Given the description of an element on the screen output the (x, y) to click on. 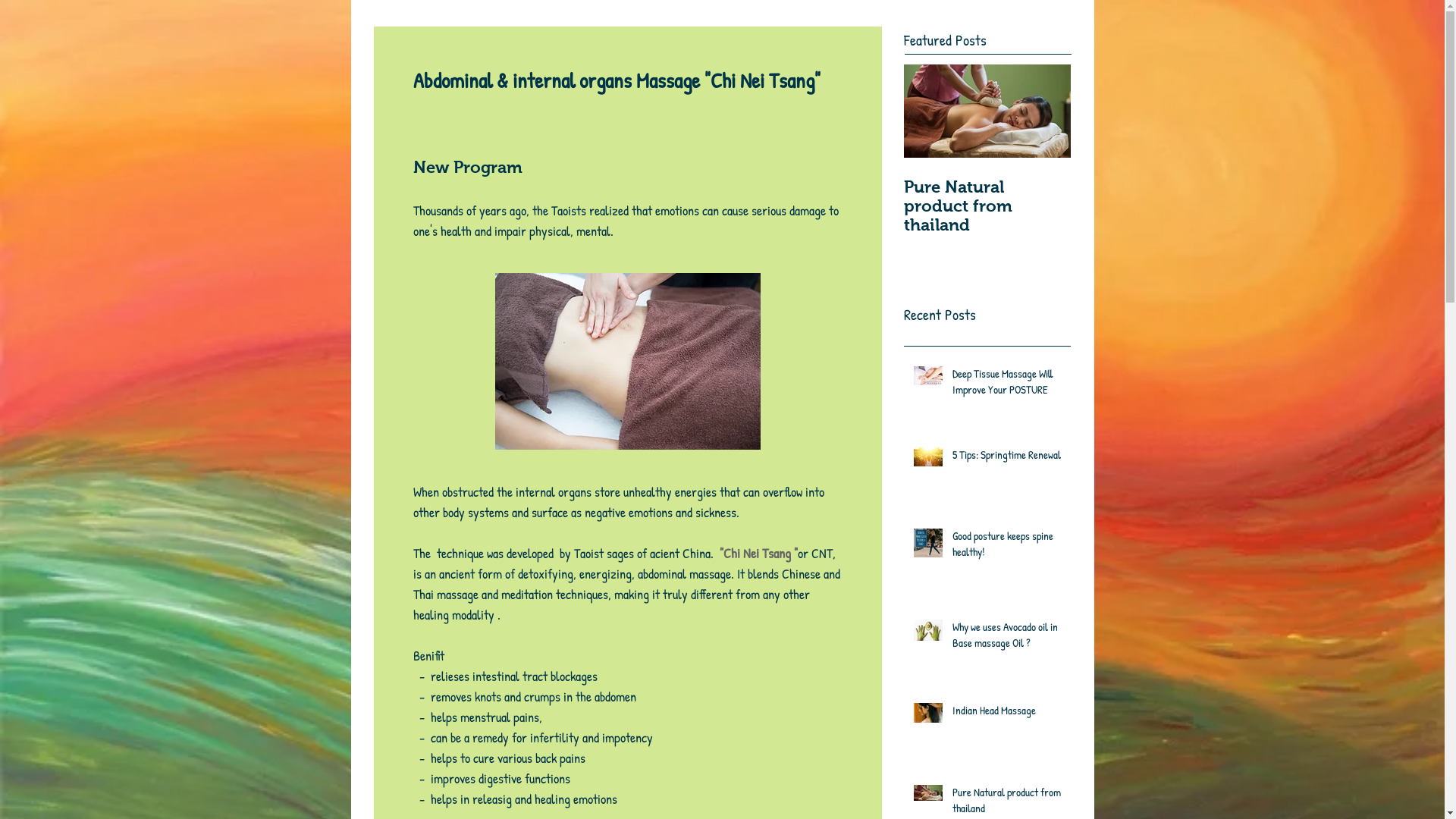
 "Chi Nei Tsang " Element type: text (756, 552)
Pure Natural product from thailand Element type: text (986, 205)
Why we uses Avocado oil in Base massage Oil ? Element type: text (1006, 637)
Good posture keeps spine healthy! Element type: text (1006, 546)
Indian Head Massage Element type: text (1006, 713)
5 Tips: Springtime Renewal Element type: text (1006, 457)
Deep Tissue Massage Will Improve Your POSTURE Element type: text (1006, 384)
